Given the description of an element on the screen output the (x, y) to click on. 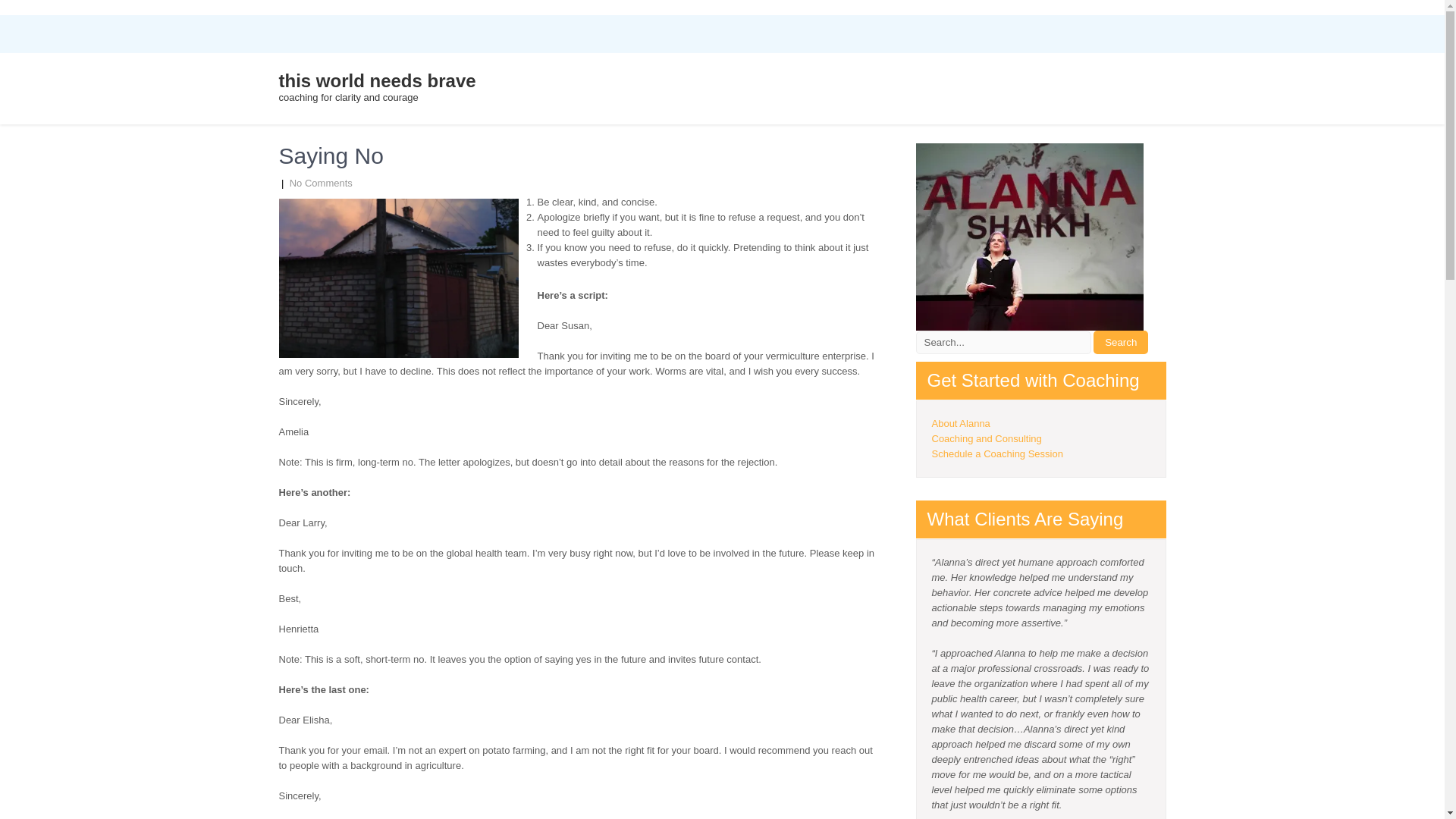
Schedule a Coaching Session (996, 453)
No Comments (320, 183)
this world needs brave (377, 80)
Search (1120, 341)
About Alanna (960, 423)
Search (1120, 341)
Coaching and Consulting (986, 438)
Search (1120, 341)
